Given the description of an element on the screen output the (x, y) to click on. 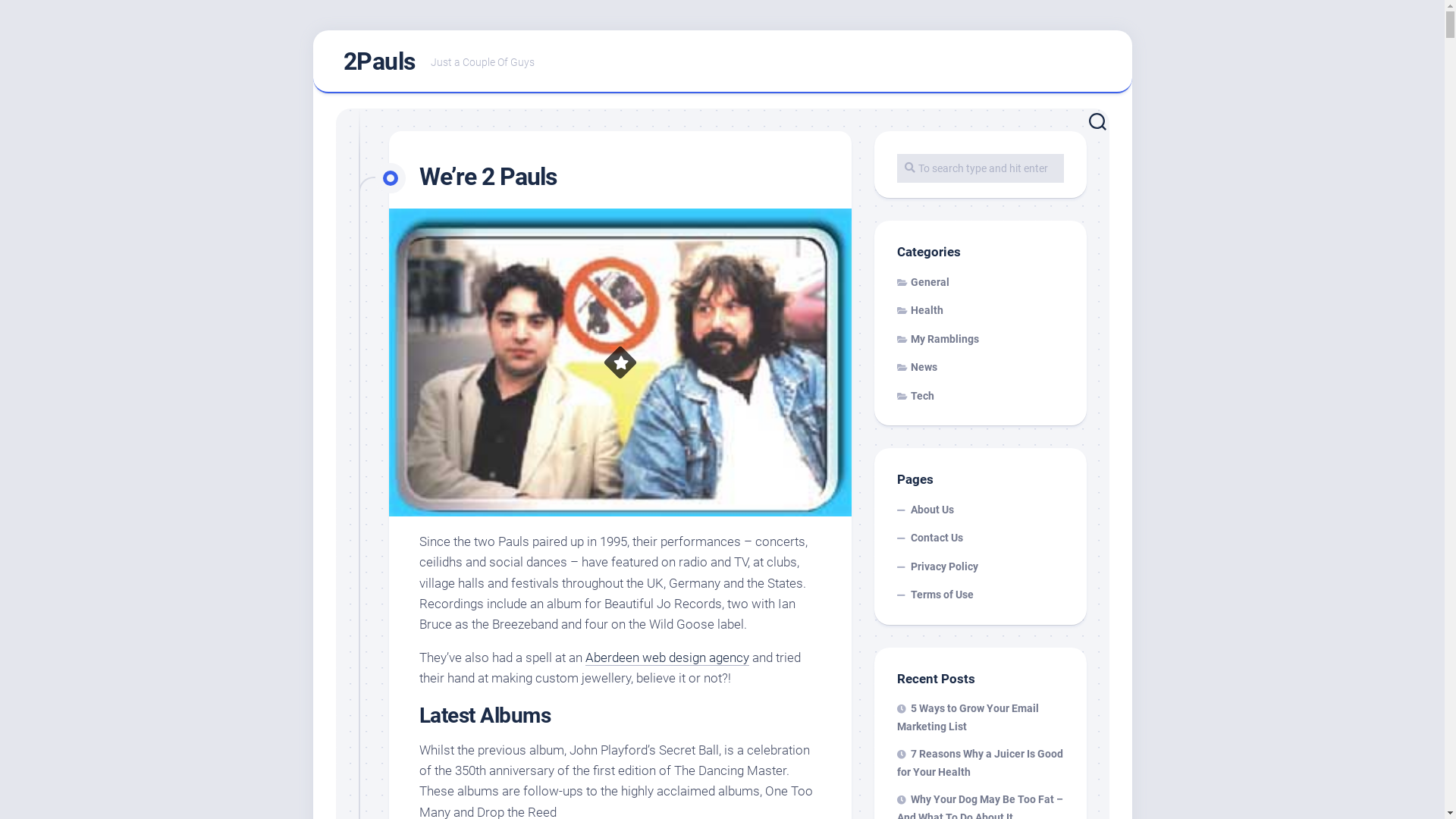
2Pauls Element type: text (378, 61)
About Us Element type: text (979, 509)
Contact Us Element type: text (979, 538)
Health Element type: text (919, 310)
Tech Element type: text (914, 395)
5 Ways to Grow Your Email Marketing List Element type: text (967, 717)
7 Reasons Why a Juicer Is Good for Your Health Element type: text (979, 762)
News Element type: text (916, 366)
Privacy Policy Element type: text (979, 566)
Terms of Use Element type: text (979, 594)
My Ramblings Element type: text (937, 338)
Aberdeen web design agency Element type: text (667, 657)
General Element type: text (922, 282)
